Given the description of an element on the screen output the (x, y) to click on. 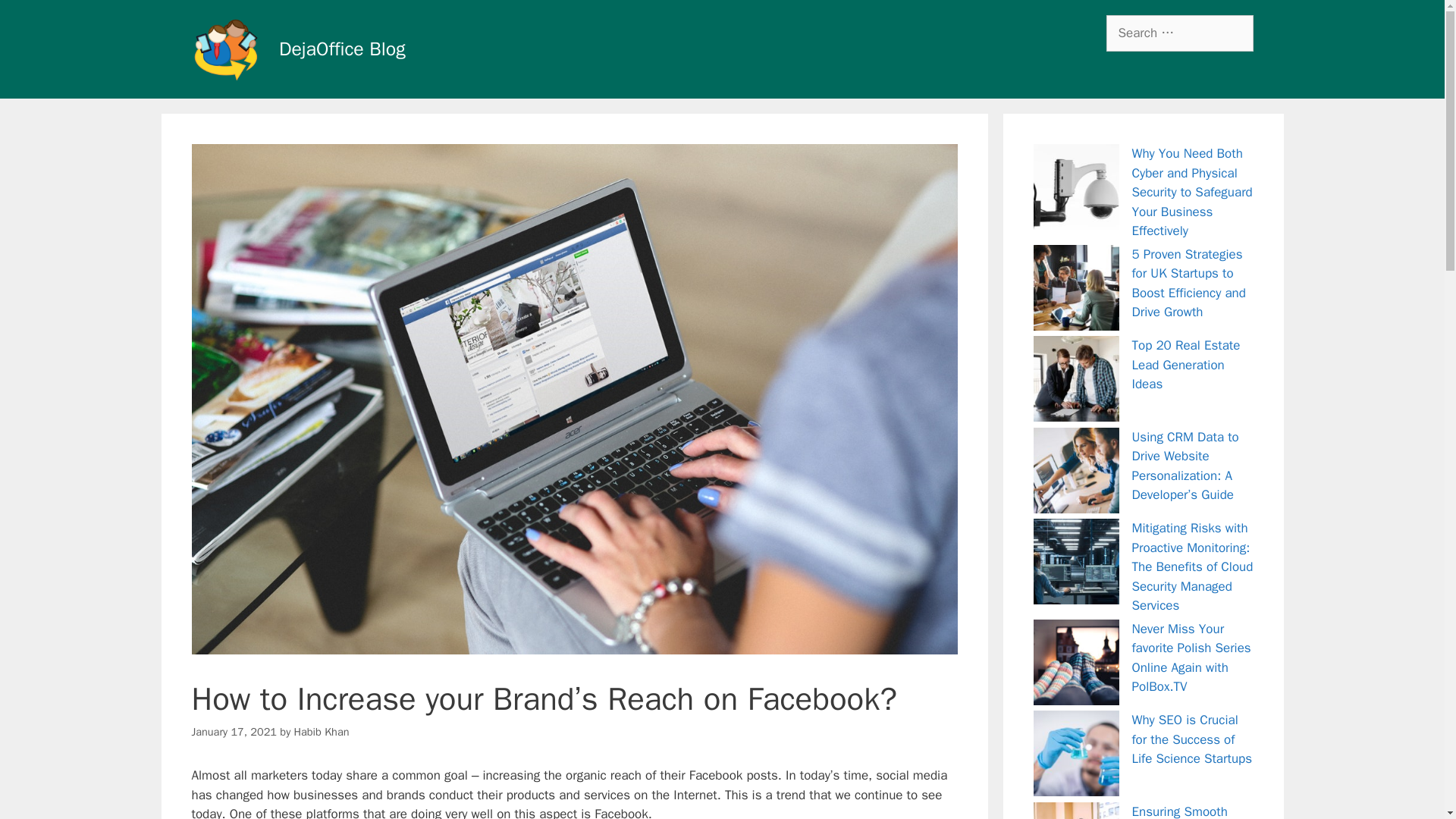
Top 20 Real Estate Lead Generation Ideas (1185, 364)
DejaOffice Blog (224, 48)
Why SEO is Crucial for the Success of Life Science Startups (1191, 738)
Ensuring Smooth Business Operations: Ten Tips for Managers (1191, 811)
Search (35, 18)
Search for: (1178, 33)
DejaOffice Blog (224, 49)
